Given the description of an element on the screen output the (x, y) to click on. 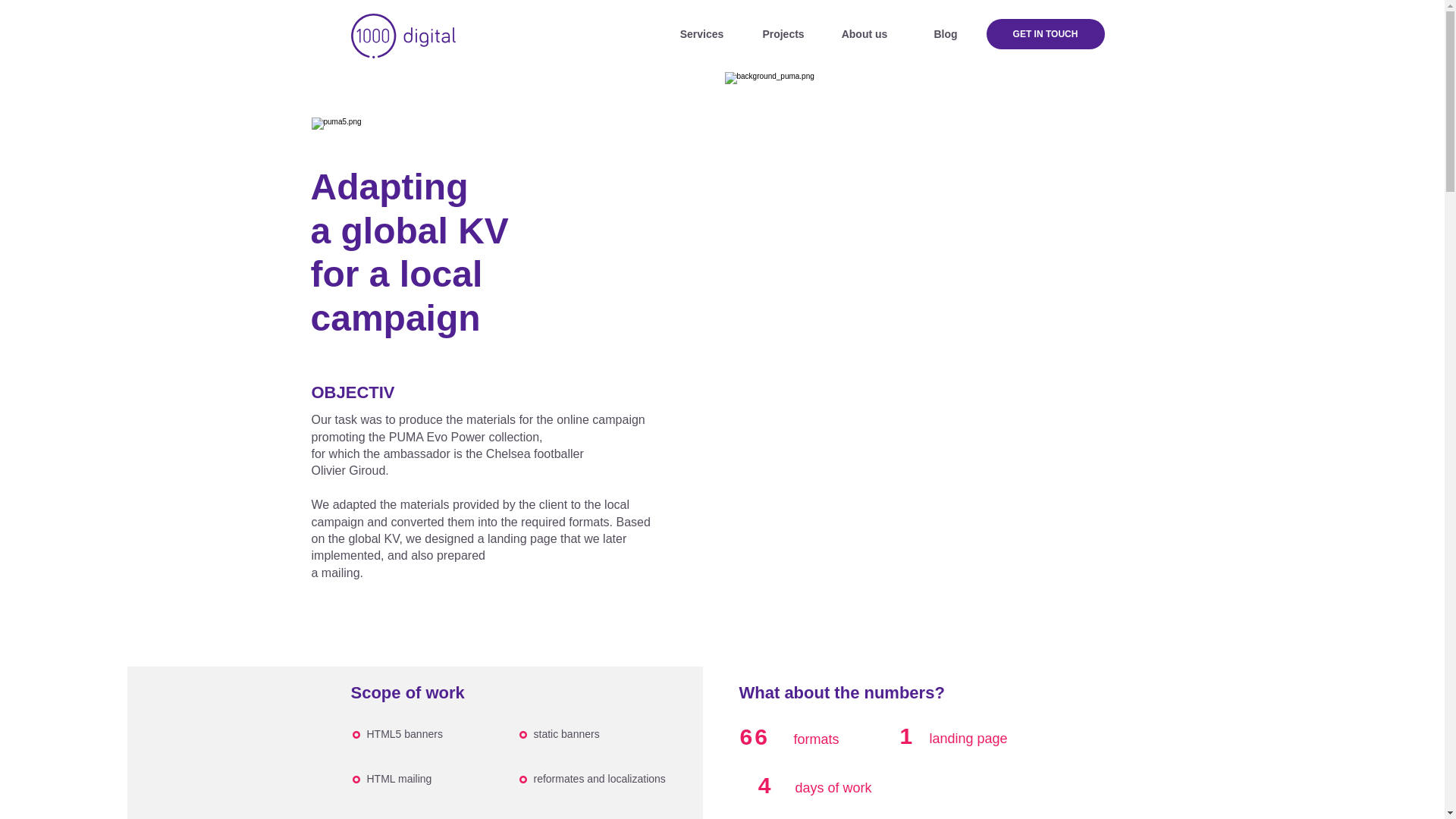
Projects (783, 34)
virgin.png (352, 139)
Services (701, 34)
About us (864, 34)
GET IN TOUCH (1044, 33)
Blog (946, 34)
